Given the description of an element on the screen output the (x, y) to click on. 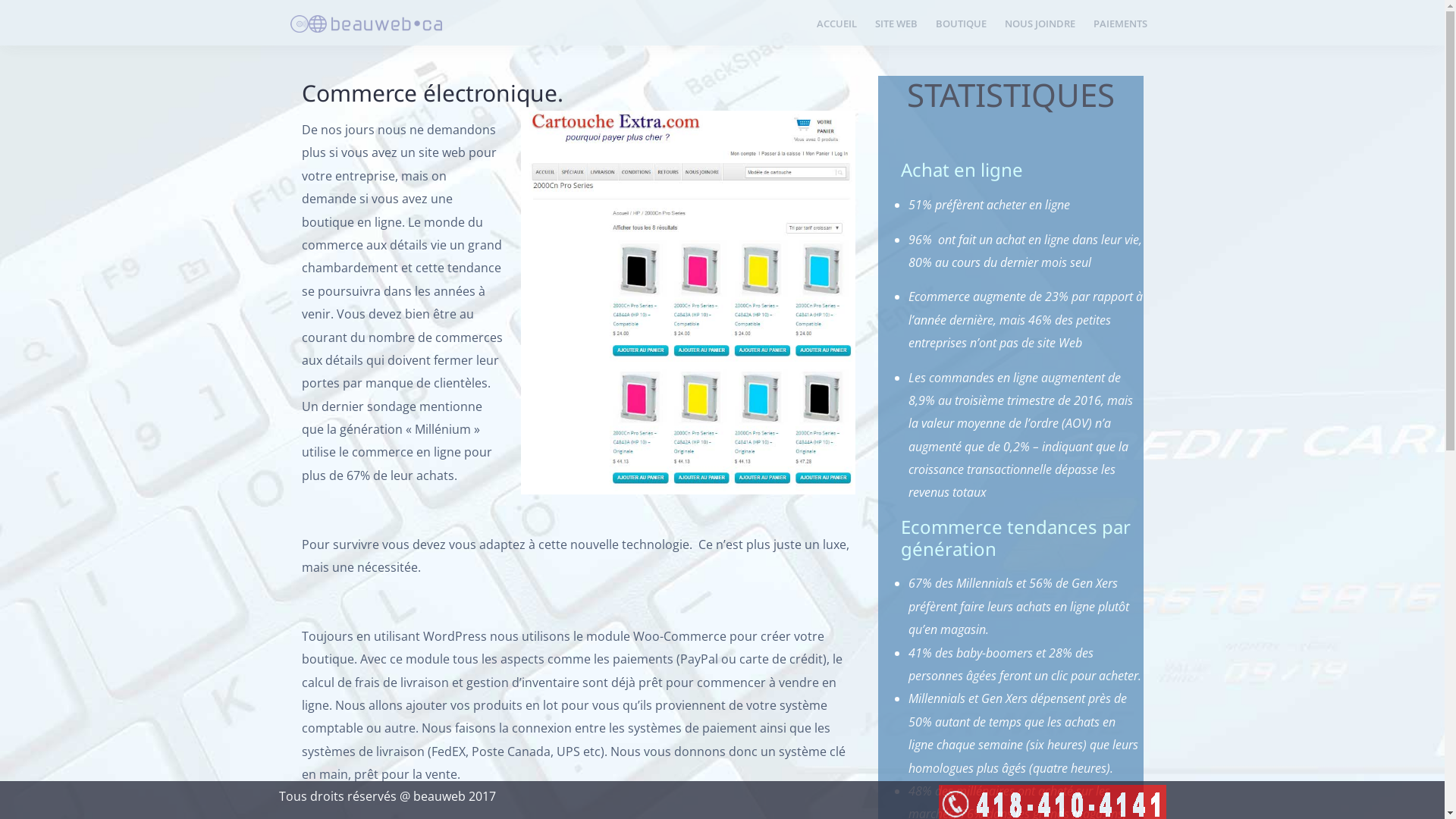
NOUS JOINDRE Element type: text (1039, 23)
ACCUEIL Element type: text (835, 23)
BOUTIQUE Element type: text (960, 23)
SITE WEB Element type: text (896, 23)
Skip to content Element type: text (0, 0)
PAIEMENTS Element type: text (1120, 23)
